Given the description of an element on the screen output the (x, y) to click on. 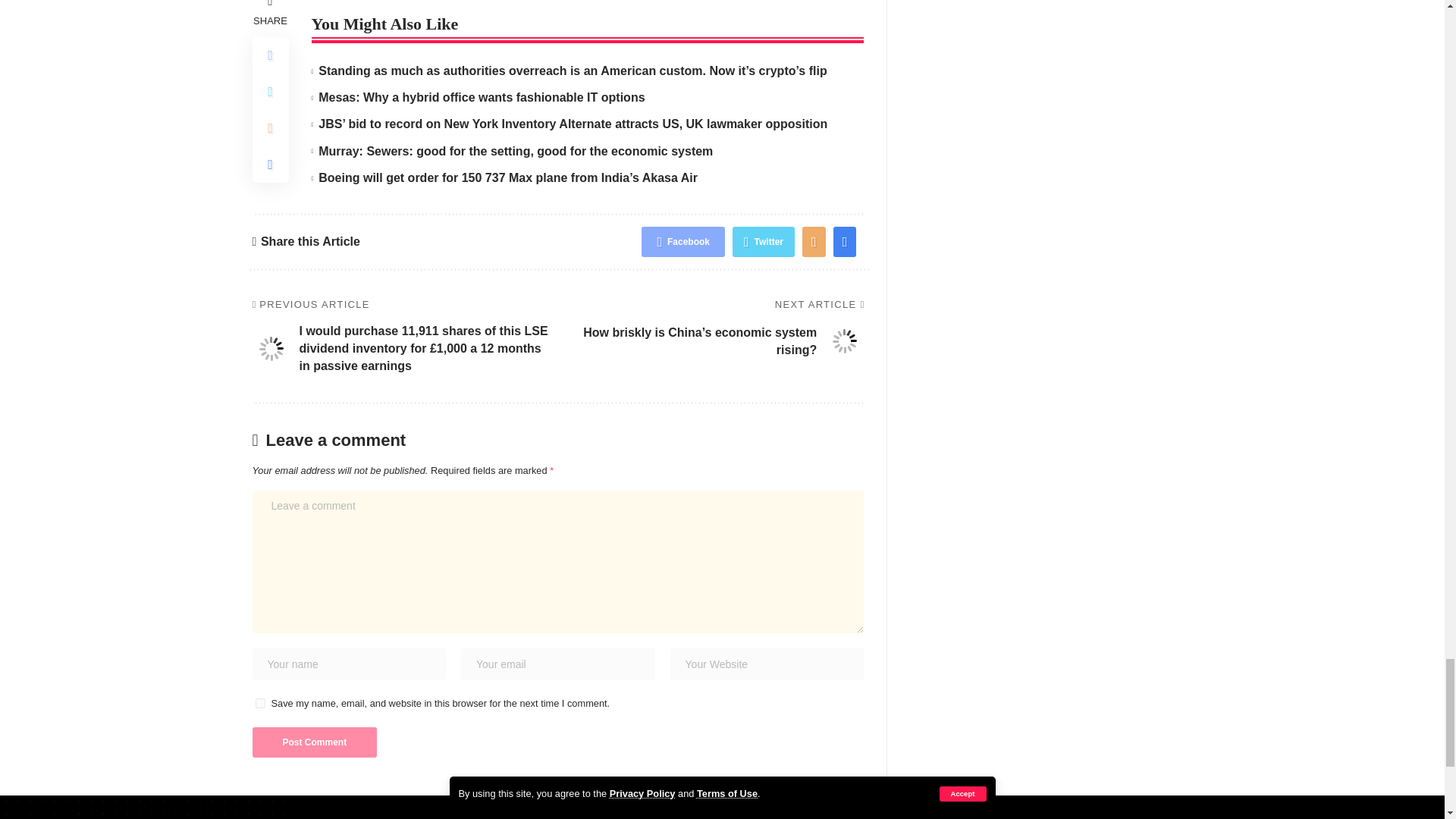
Post Comment (314, 742)
yes (259, 703)
